Given the description of an element on the screen output the (x, y) to click on. 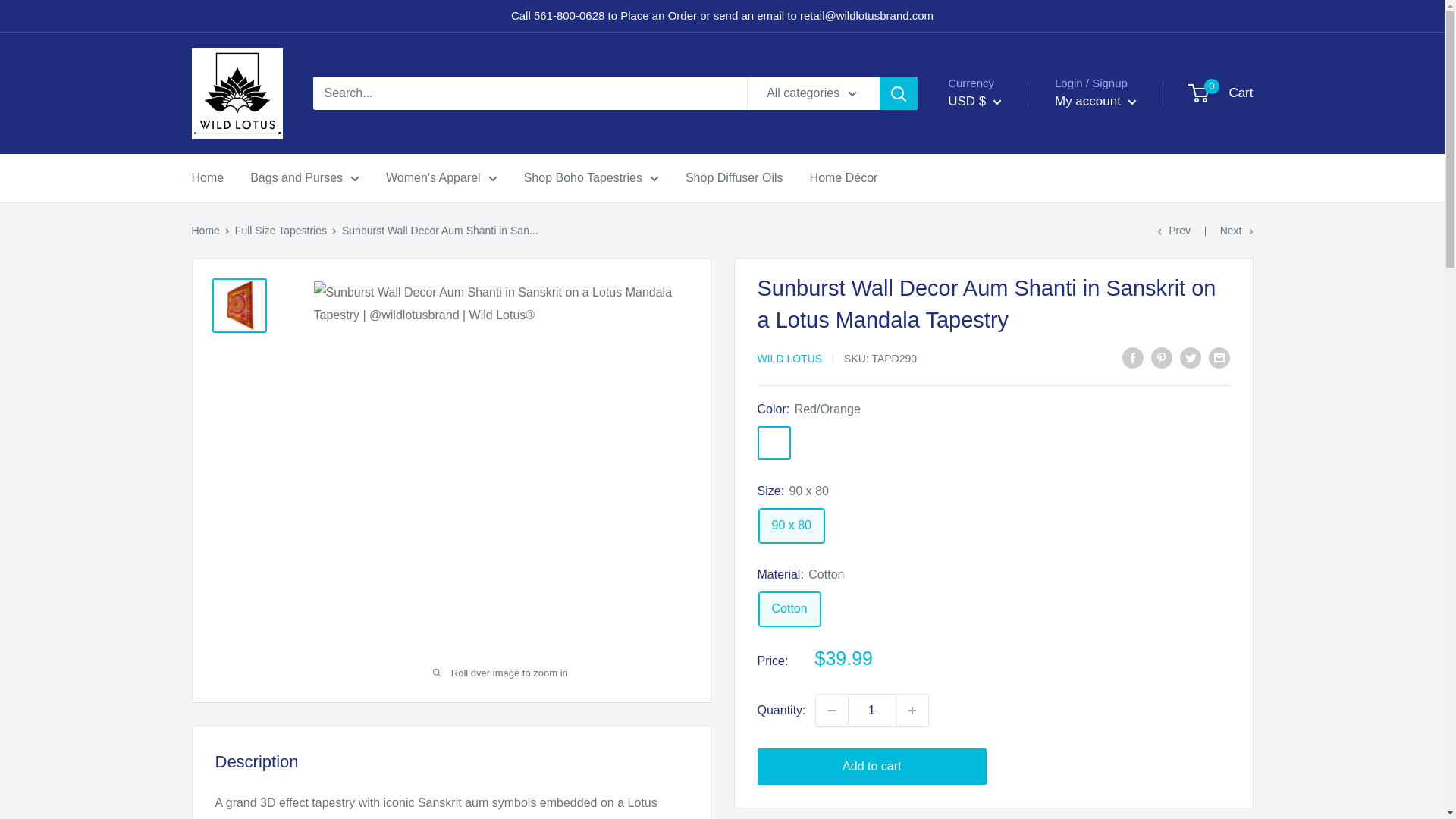
Increase quantity by 1 (912, 710)
90 x 80 (791, 525)
Decrease quantity by 1 (831, 710)
1 (871, 710)
Cotton (788, 609)
